Given the description of an element on the screen output the (x, y) to click on. 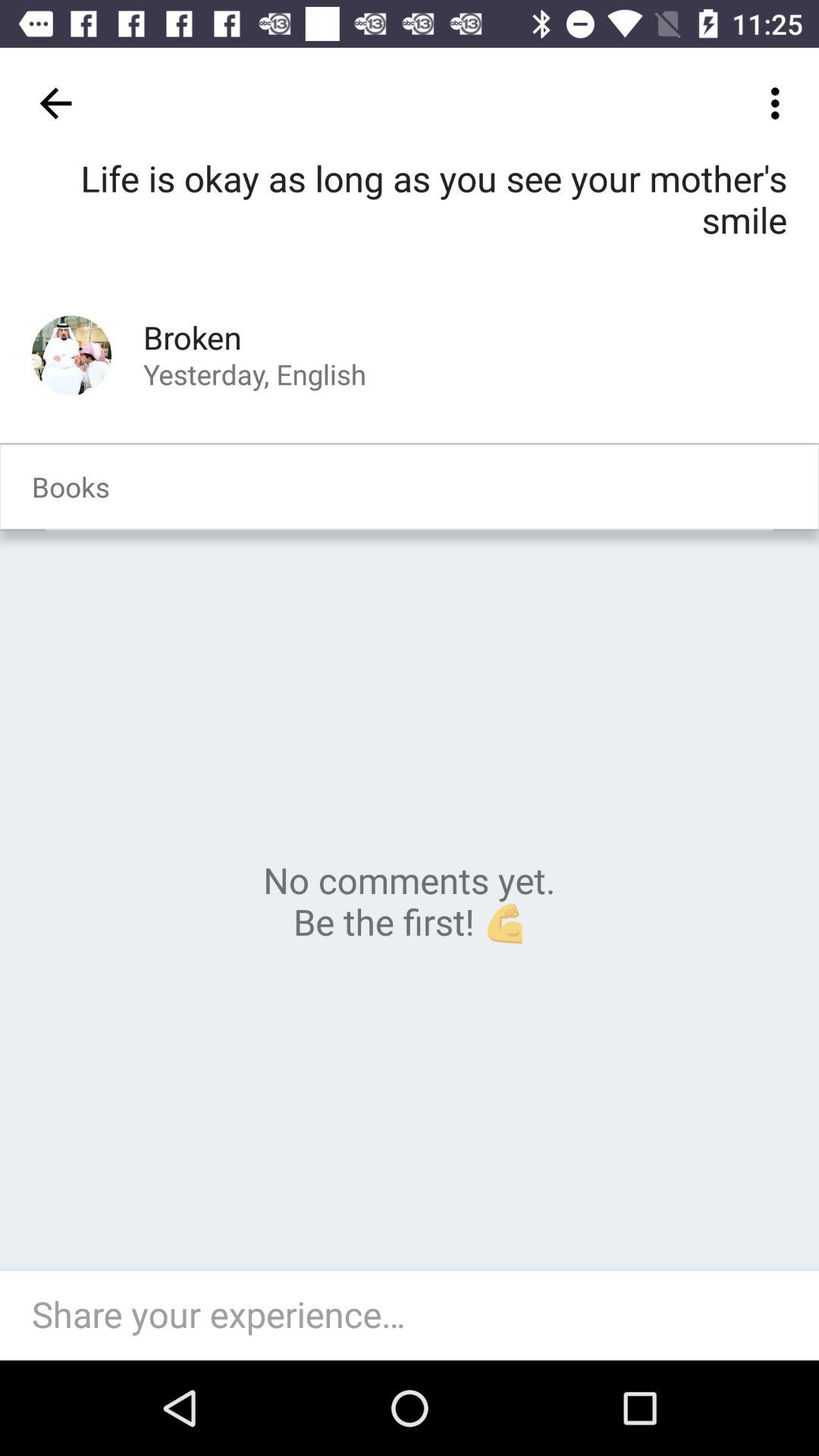
allows you to respond to a comment (417, 1315)
